Given the description of an element on the screen output the (x, y) to click on. 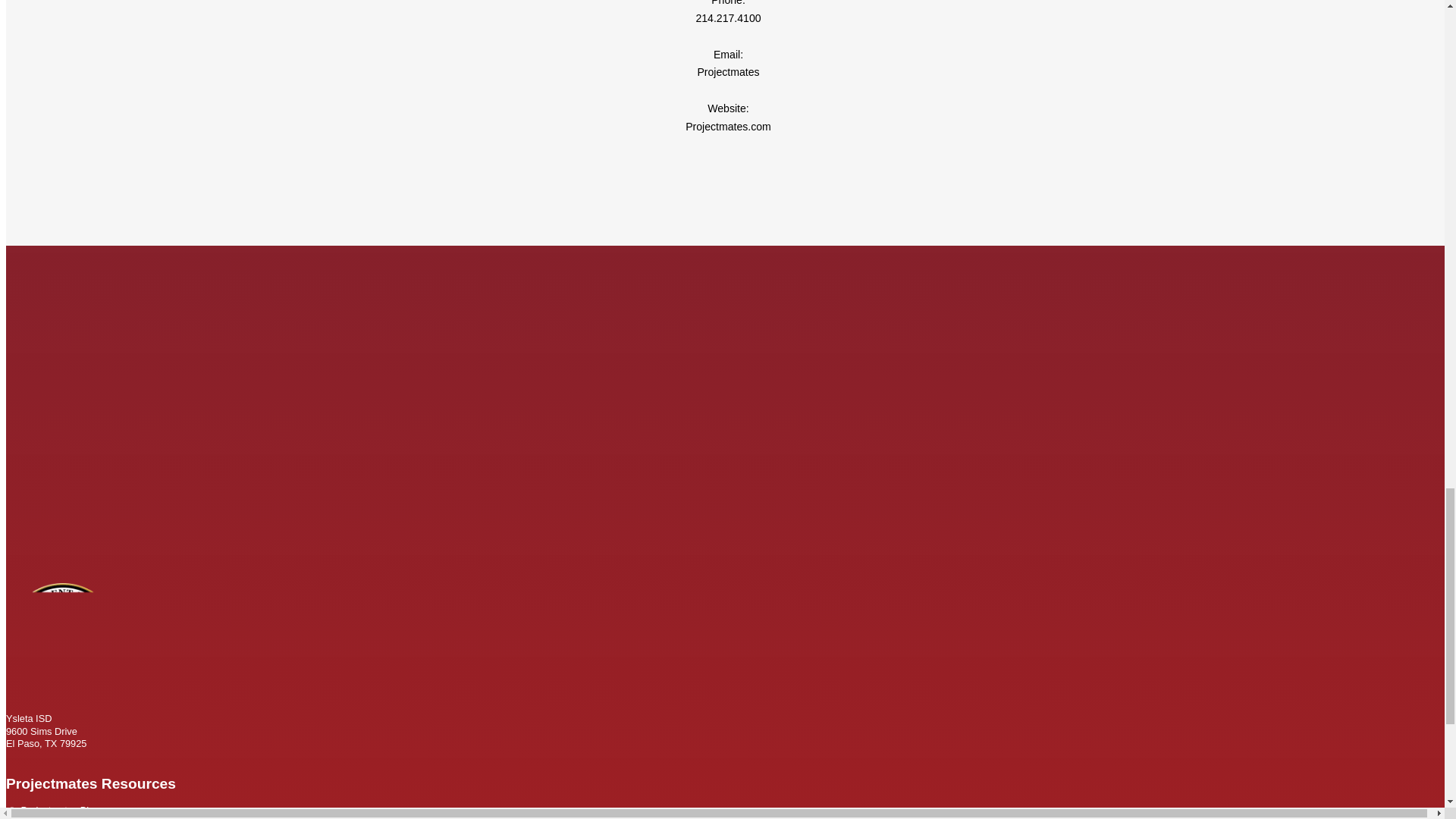
Projectmates (727, 71)
Projectmates Blog (60, 809)
Projectmates Blog (60, 809)
Ysleta ISD (62, 693)
Projectmates Construction Program Management Software (728, 126)
Projectmates.com (728, 126)
